Given the description of an element on the screen output the (x, y) to click on. 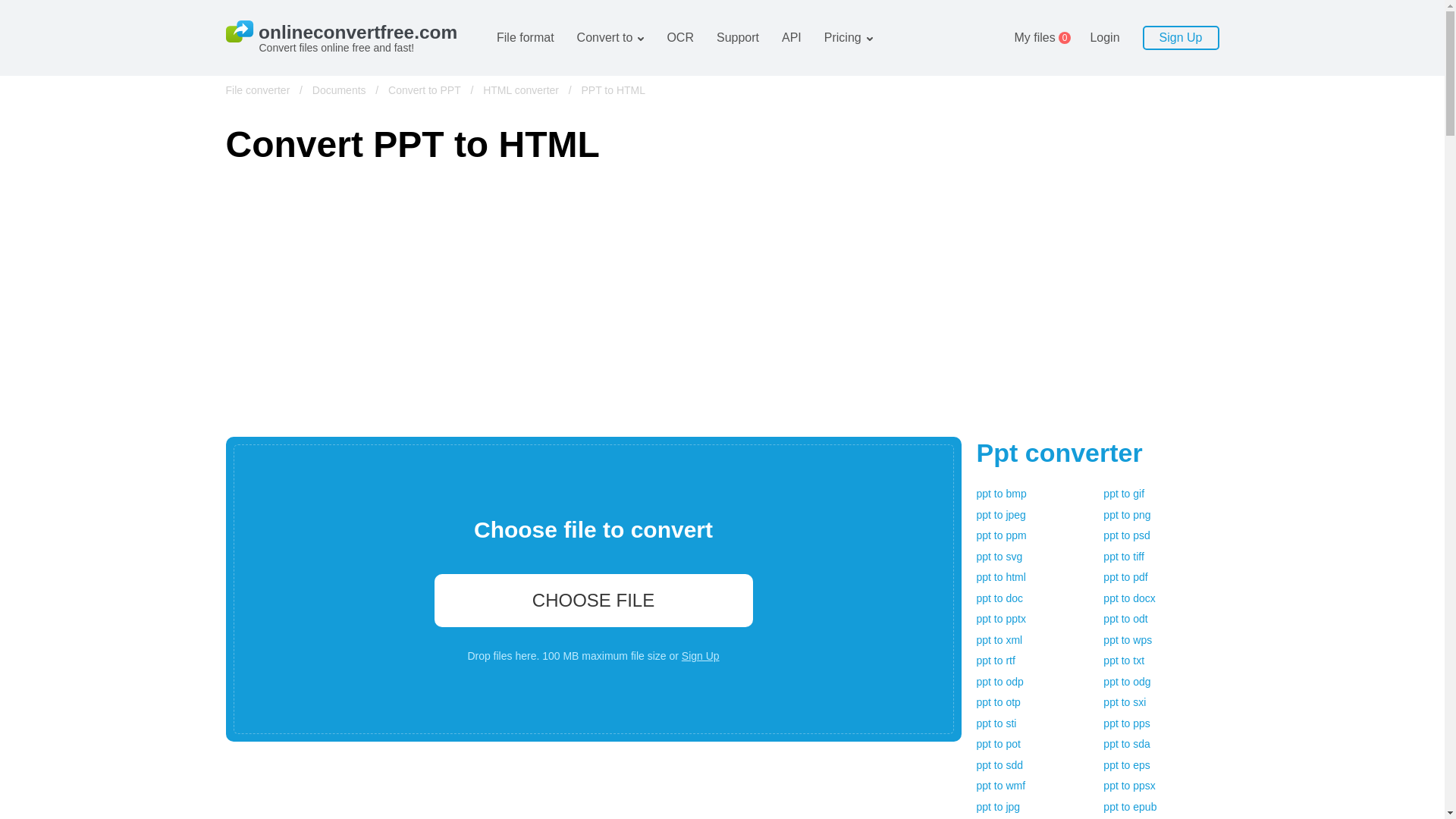
Support (737, 37)
API (791, 37)
Convert to (604, 37)
Advertisement (593, 789)
Sign Up (1181, 37)
OCR (680, 37)
File format (525, 37)
Pricing (842, 37)
Convert files online free and fast! (349, 37)
Login (1042, 38)
